Given the description of an element on the screen output the (x, y) to click on. 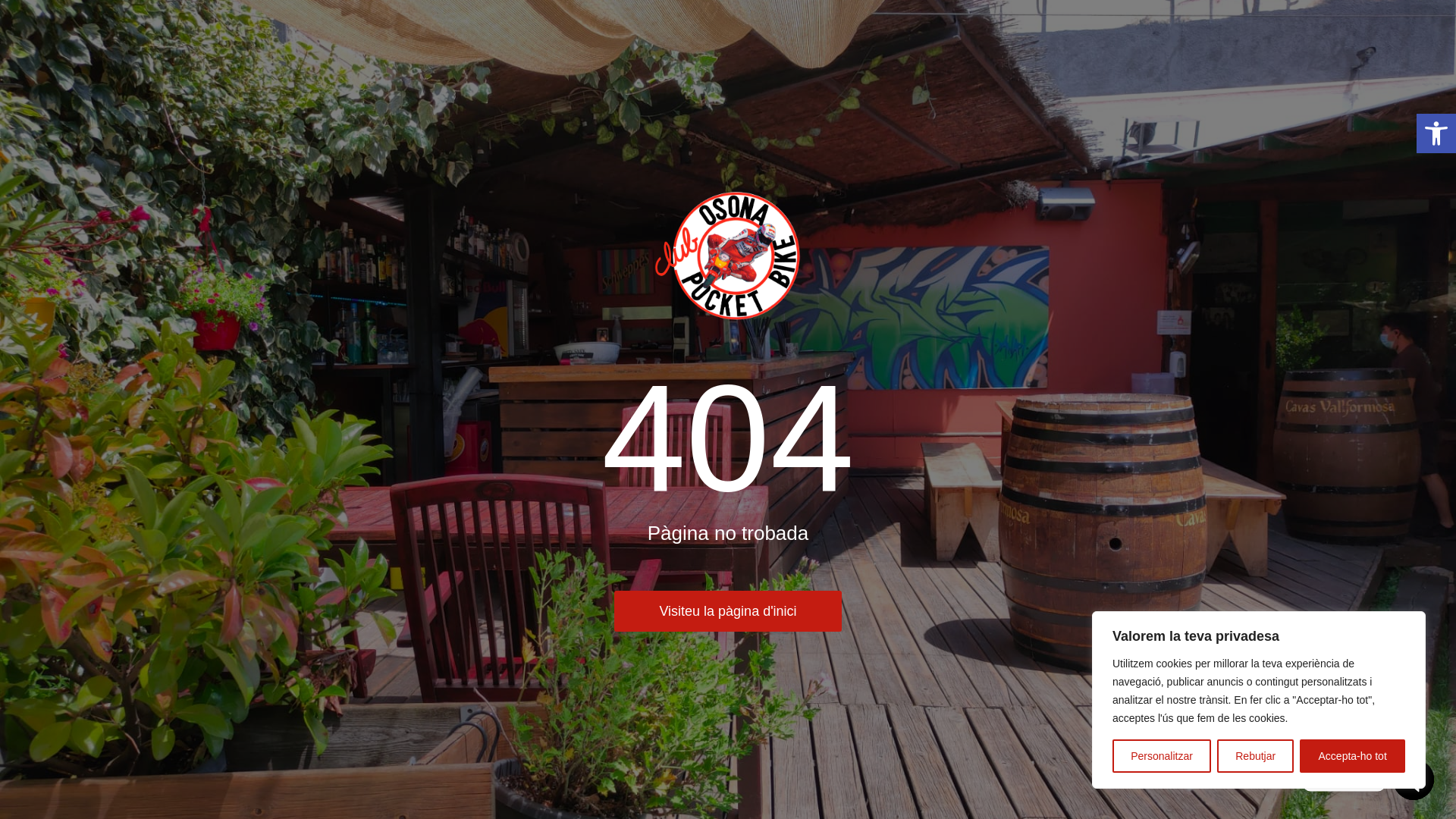
Accepta-ho tot (1352, 756)
Rebutjar (1255, 756)
Personalitzar (1161, 756)
Eines d'accessibilitat (1435, 133)
